Given the description of an element on the screen output the (x, y) to click on. 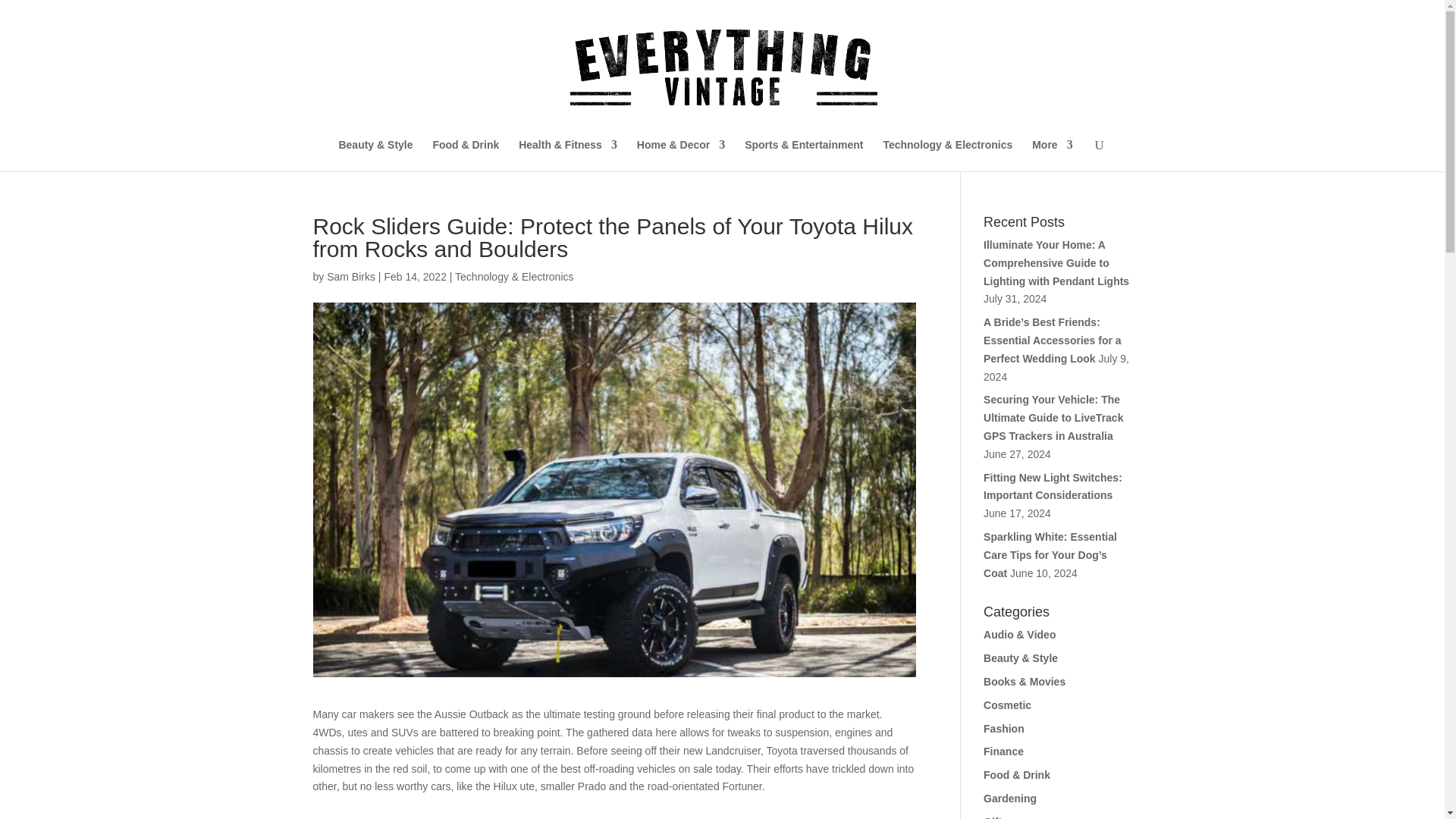
More (1051, 155)
Fitting New Light Switches: Important Considerations (1053, 486)
